Given the description of an element on the screen output the (x, y) to click on. 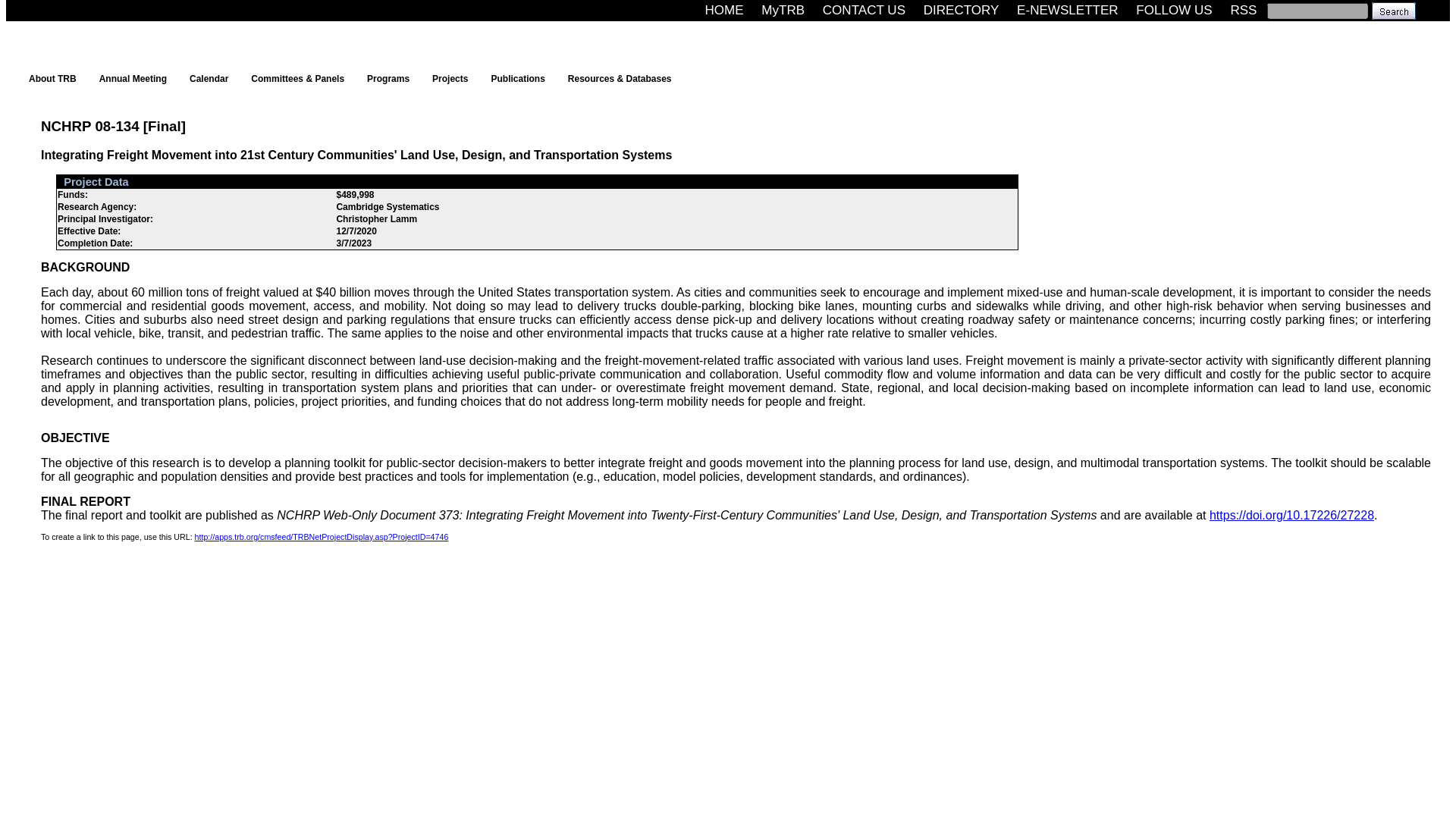
DIRECTORY (961, 10)
RSS (1243, 10)
E-Newsletter (1067, 10)
Contact Us (863, 10)
Annual Meeting (136, 77)
Home (724, 10)
CONTACT US (863, 10)
HOME (724, 10)
FOLLOW US (1174, 10)
MyTRB (783, 10)
Calendar (212, 77)
E-NEWSLETTER (1067, 10)
Click to search (1393, 9)
Directory (961, 10)
